Given the description of an element on the screen output the (x, y) to click on. 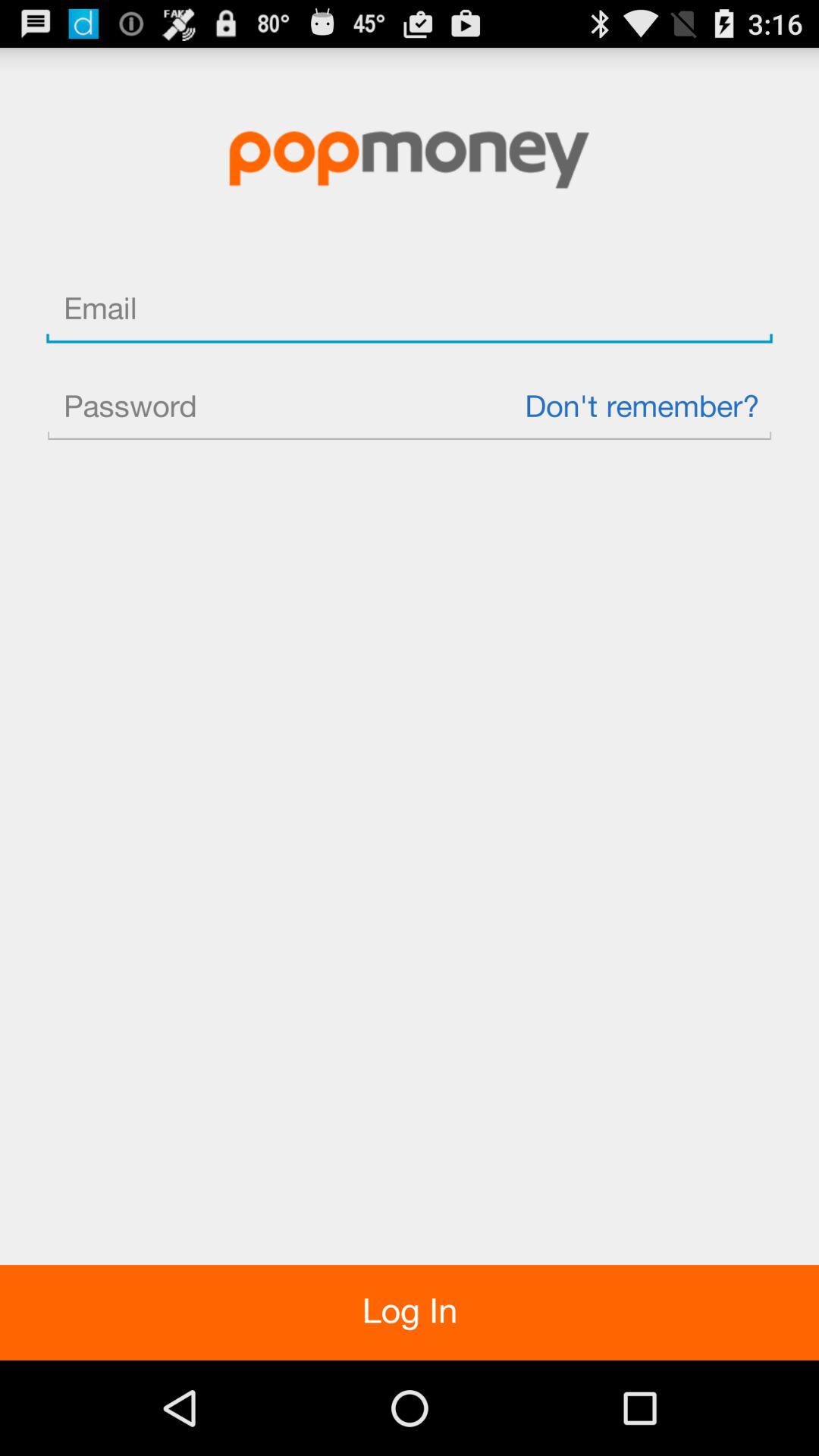
launch the log in item (409, 1312)
